Given the description of an element on the screen output the (x, y) to click on. 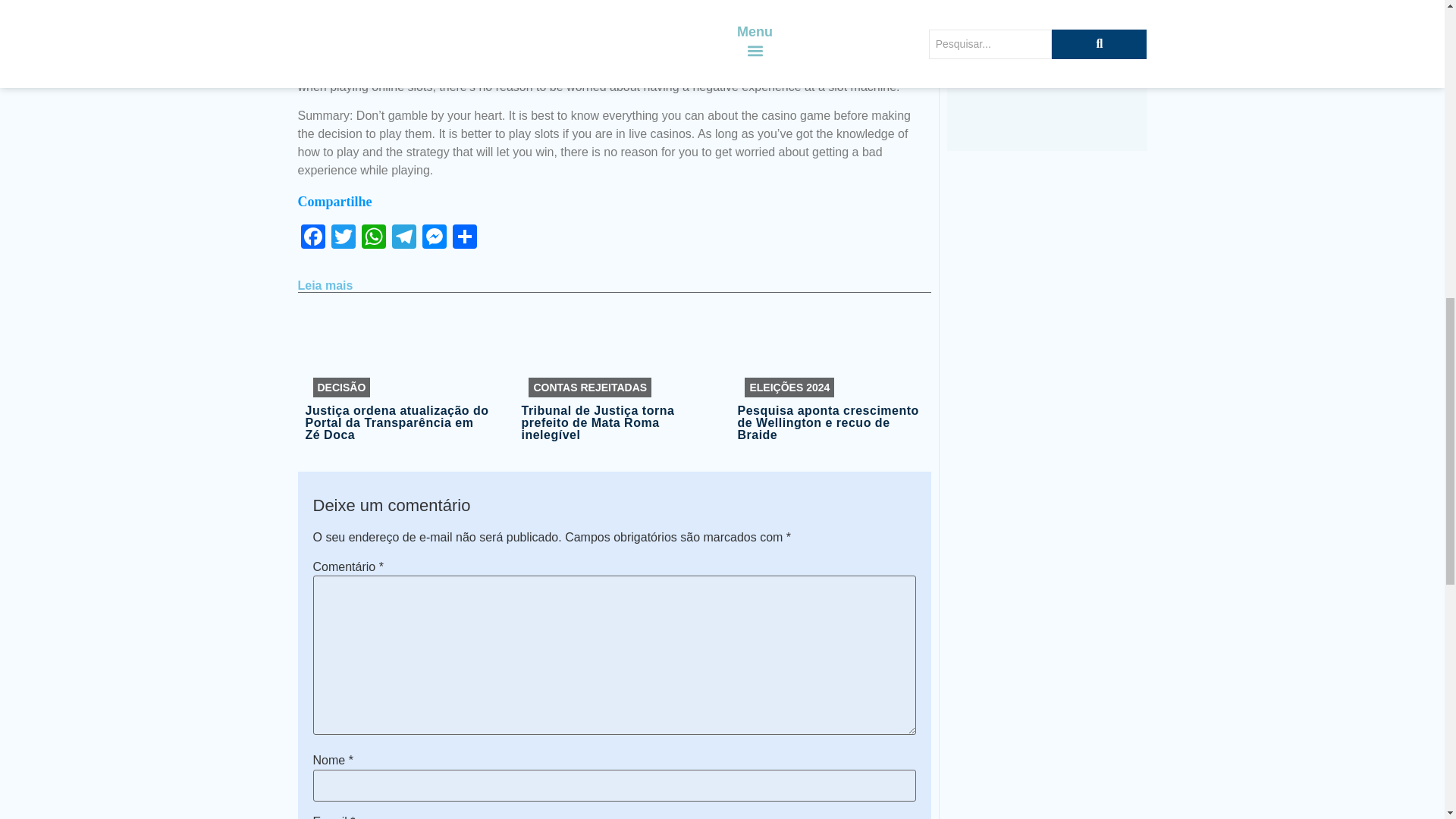
WhatsApp (373, 238)
Twitter (342, 238)
Facebook (312, 238)
Messenger (433, 238)
Telegram (403, 238)
Twitter (342, 238)
Messenger (433, 238)
Facebook (312, 238)
WhatsApp (373, 238)
Telegram (403, 238)
